Given the description of an element on the screen output the (x, y) to click on. 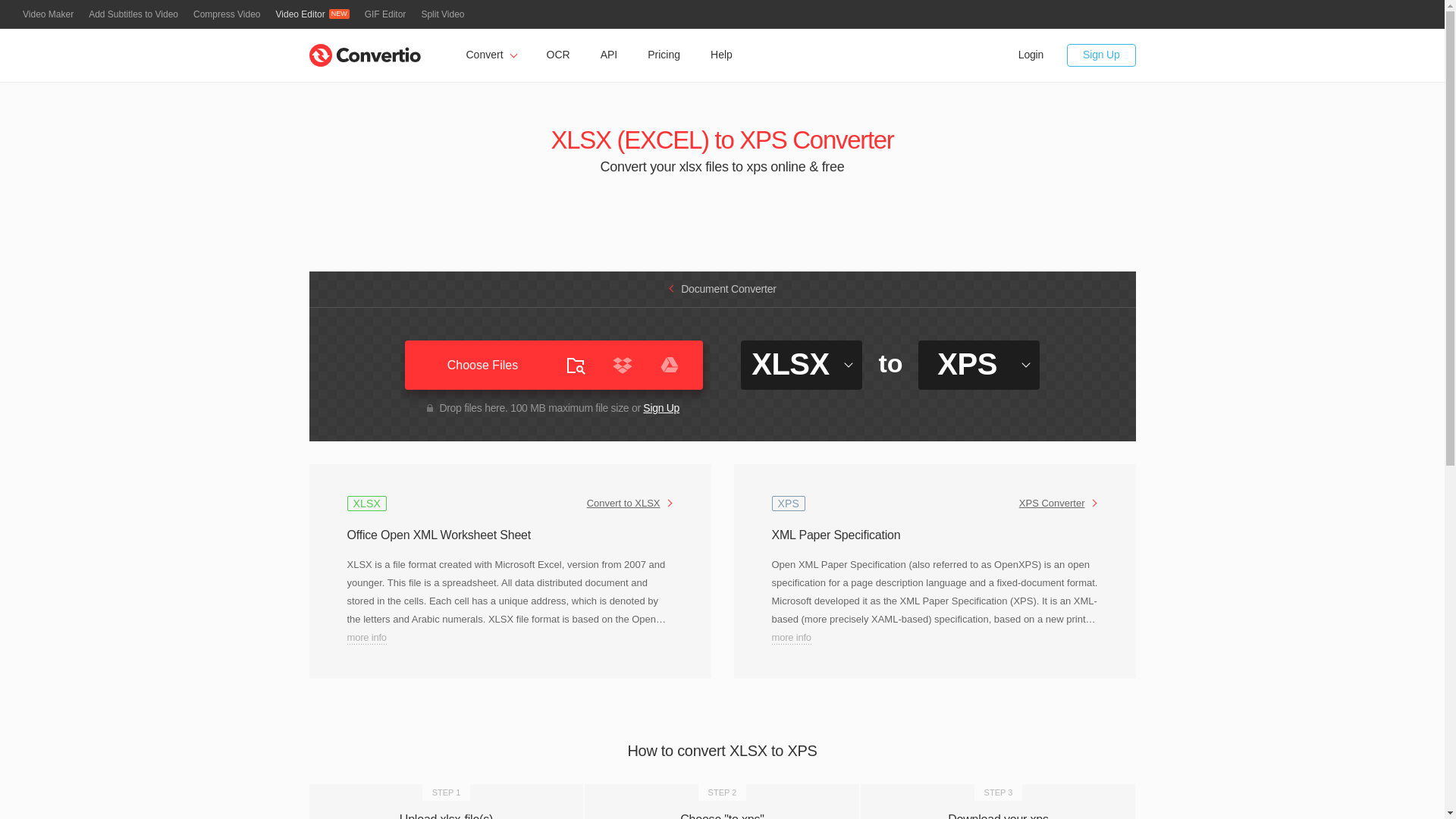
Convert (490, 54)
Document Converter (722, 288)
more info (367, 637)
Help (721, 54)
Video Editor (312, 14)
API (609, 54)
Login (1031, 55)
Pricing (663, 54)
Compress Video (226, 14)
Sign Up (661, 408)
